Given the description of an element on the screen output the (x, y) to click on. 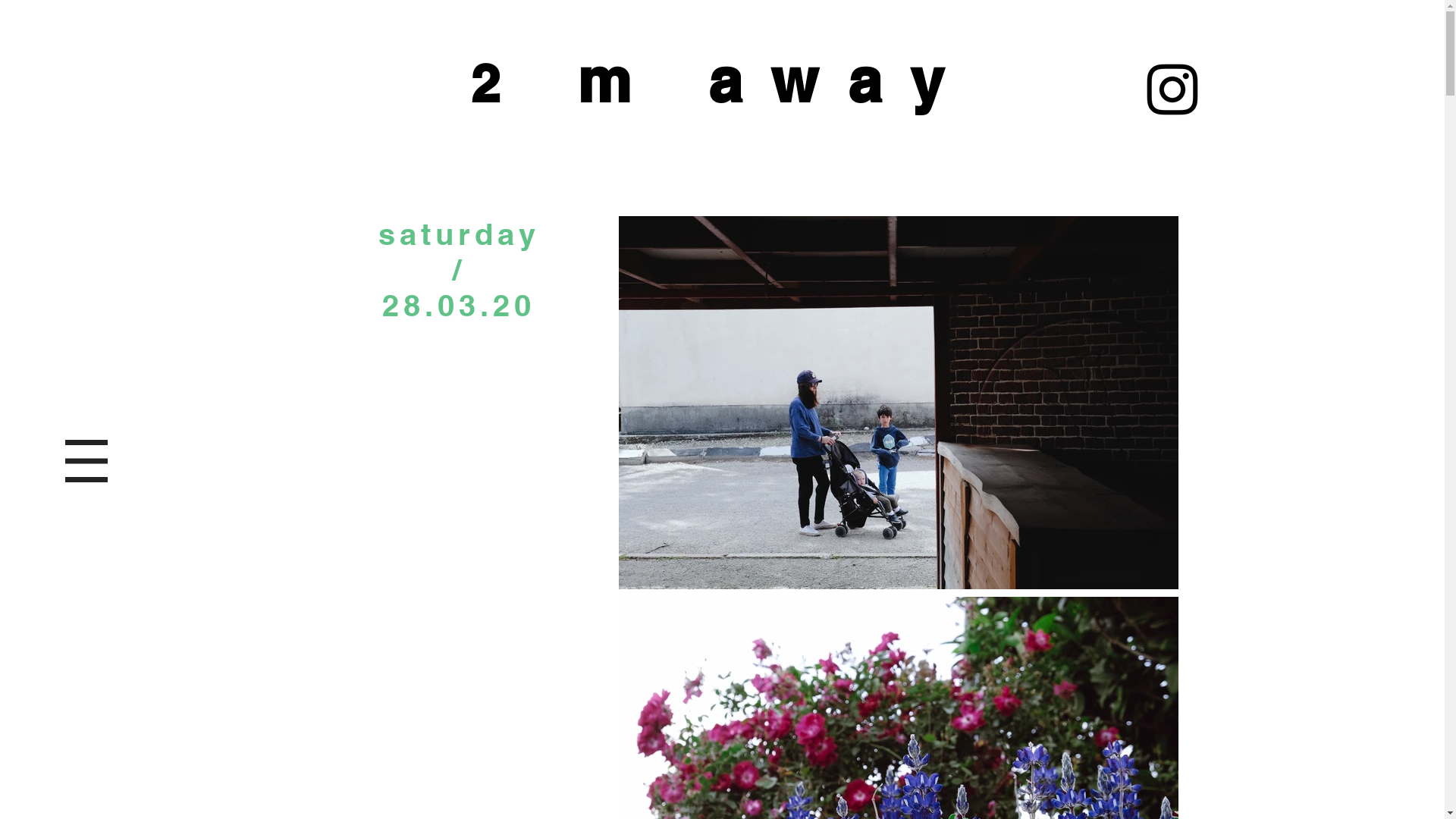
2 m away Element type: text (721, 79)
